Given the description of an element on the screen output the (x, y) to click on. 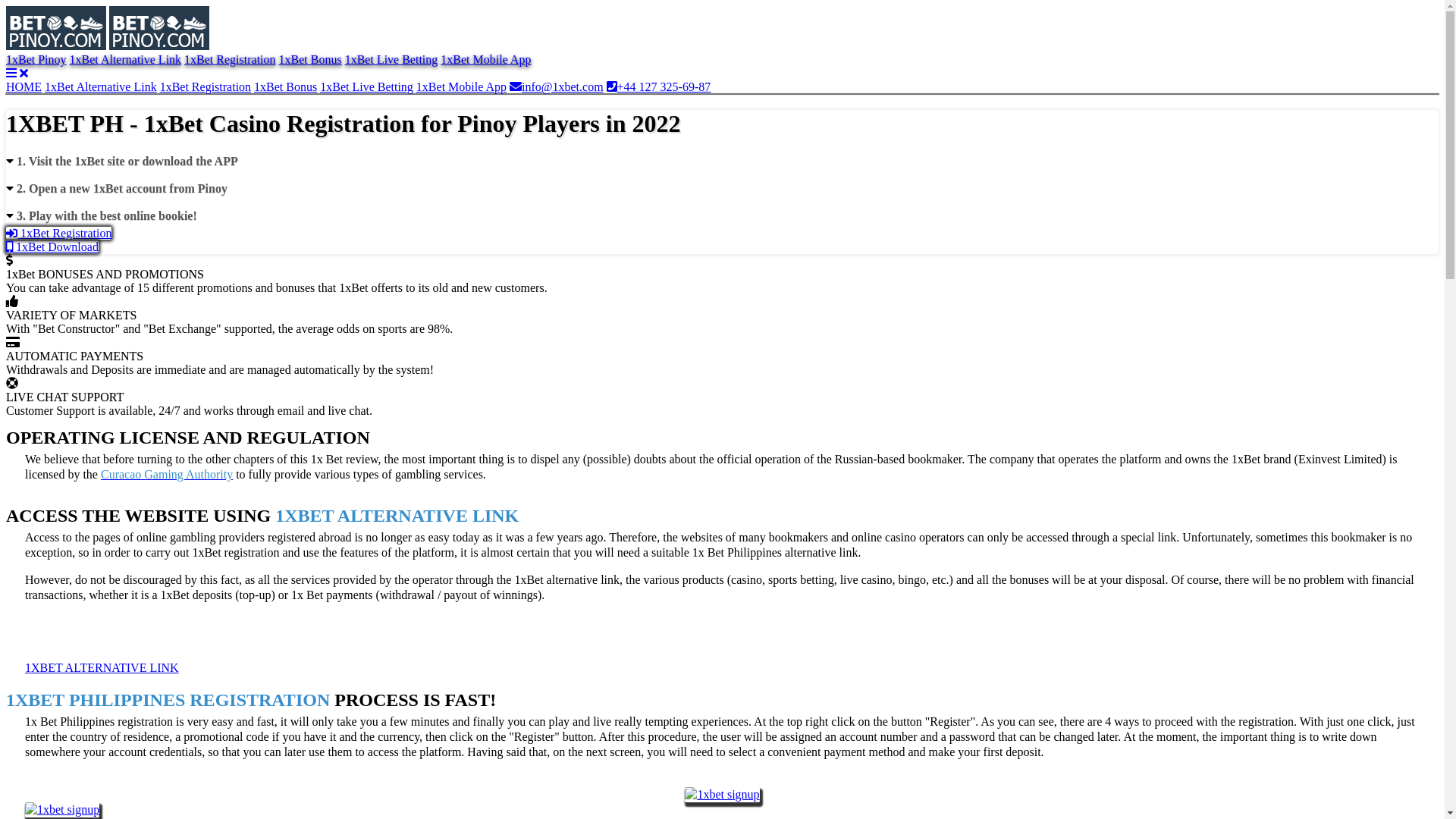
1xBet Mobile App Element type: text (461, 86)
1xBet Alternative Link Element type: text (100, 86)
1xBet Bonus Element type: text (285, 86)
+44 127 325-69-87 Element type: text (658, 86)
info@1xbet.com Element type: text (556, 86)
Curacao Gaming Authority Element type: text (166, 473)
1XBET ALTERNATIVE LINK Element type: text (101, 667)
1xBet Philippines Element type: hover (159, 28)
1xBet Registration Element type: text (205, 86)
1xBet Mobile App Element type: text (485, 59)
1xbet signup Element type: hover (62, 809)
1xBet Alternative Link Element type: text (125, 59)
1xBet Live Betting Element type: text (366, 86)
1xbet signup Element type: hover (721, 794)
HOME Element type: text (23, 86)
1xBet Bonus Element type: text (310, 59)
1xBet Registration Element type: text (229, 59)
1xBet Live Betting Element type: text (391, 59)
1xBet Download Element type: text (52, 246)
1xBet Philippines Element type: hover (56, 28)
1xBet Registration Element type: text (58, 232)
1xBet Pinoy Element type: text (36, 59)
